Given the description of an element on the screen output the (x, y) to click on. 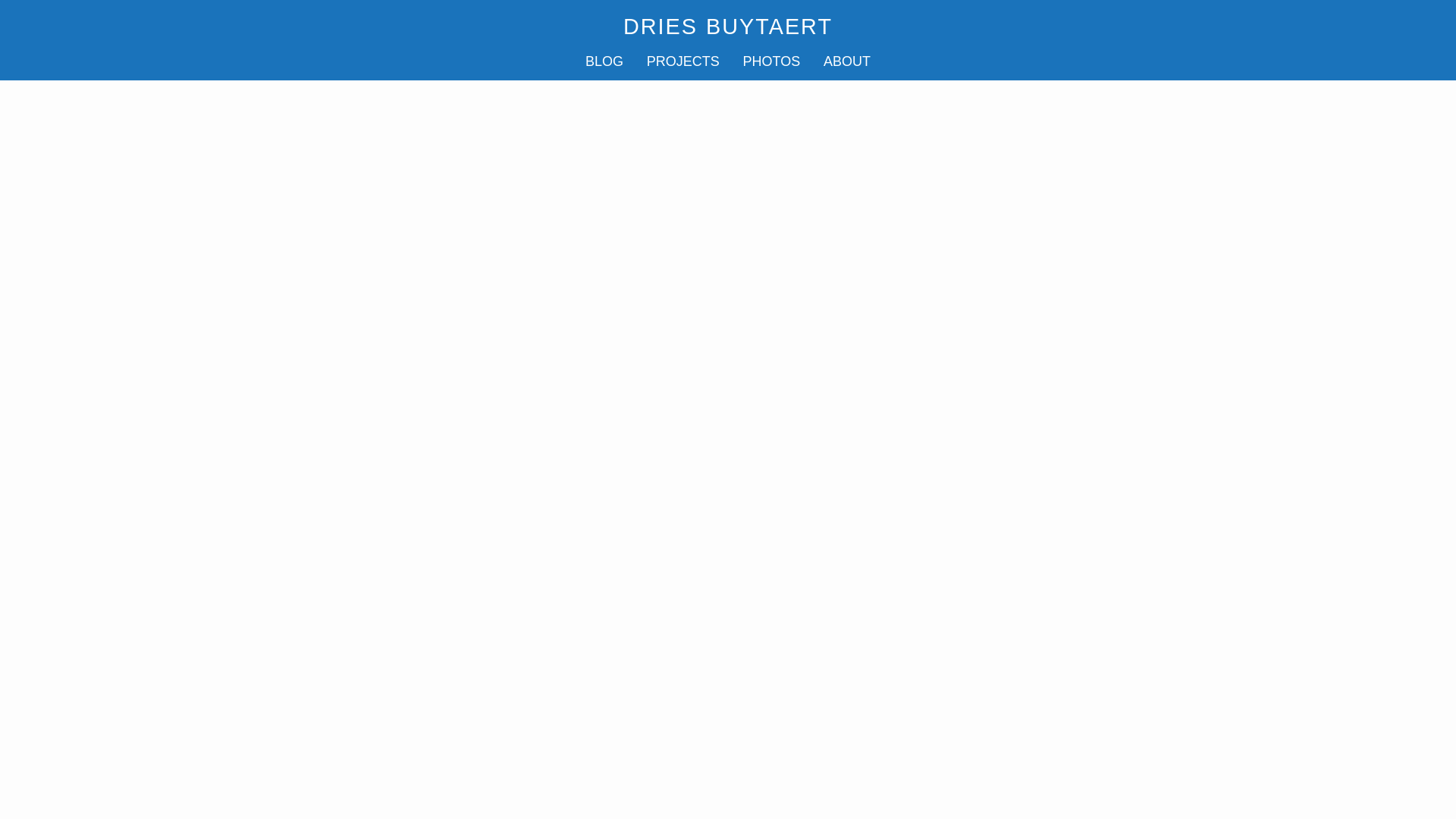
PHOTOS (771, 61)
Homepage (727, 26)
BLOG (604, 61)
PROJECTS (682, 61)
ABOUT (846, 61)
DRIES BUYTAERT (727, 26)
